Given the description of an element on the screen output the (x, y) to click on. 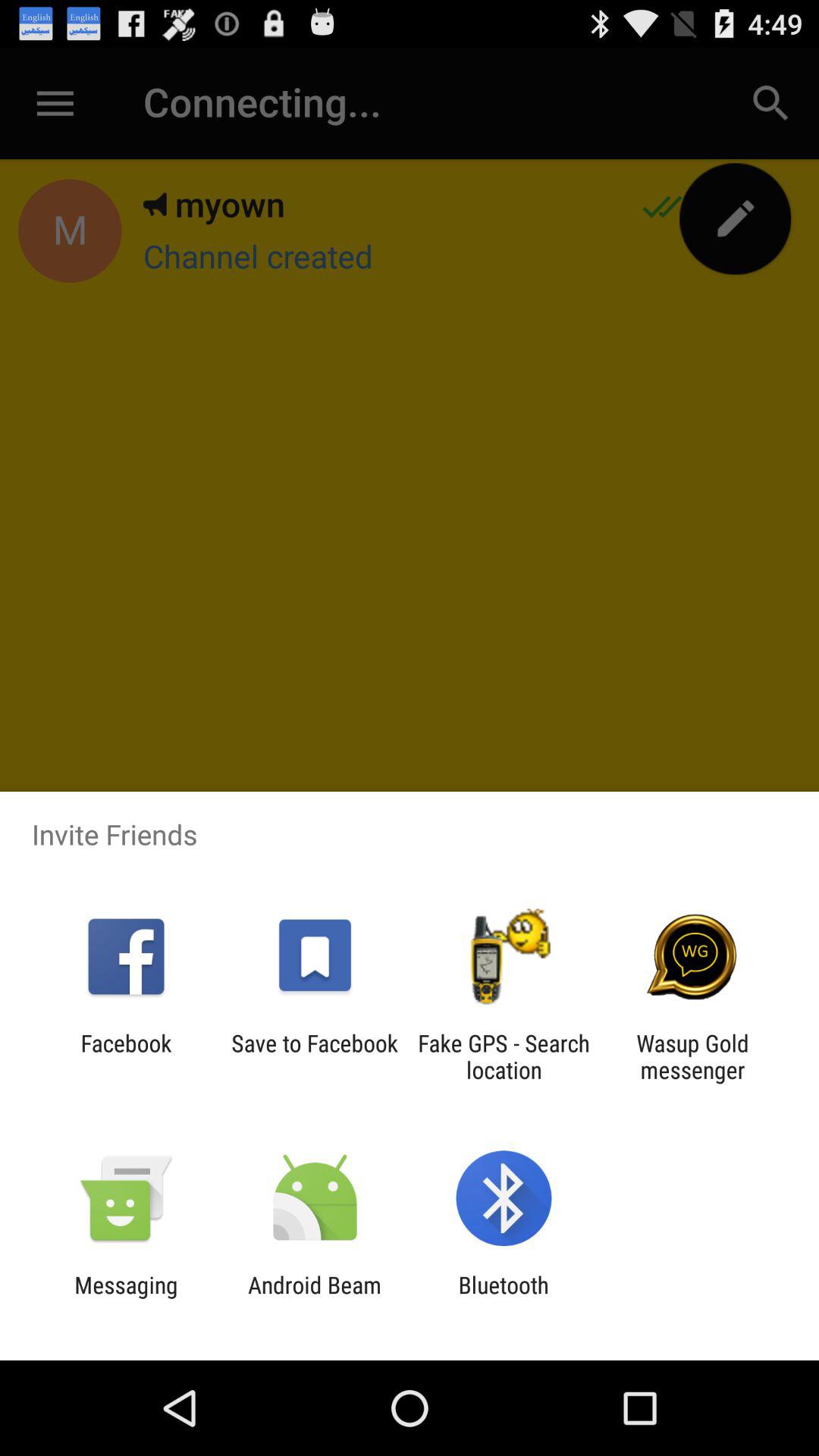
select the app to the left of the android beam app (126, 1298)
